Given the description of an element on the screen output the (x, y) to click on. 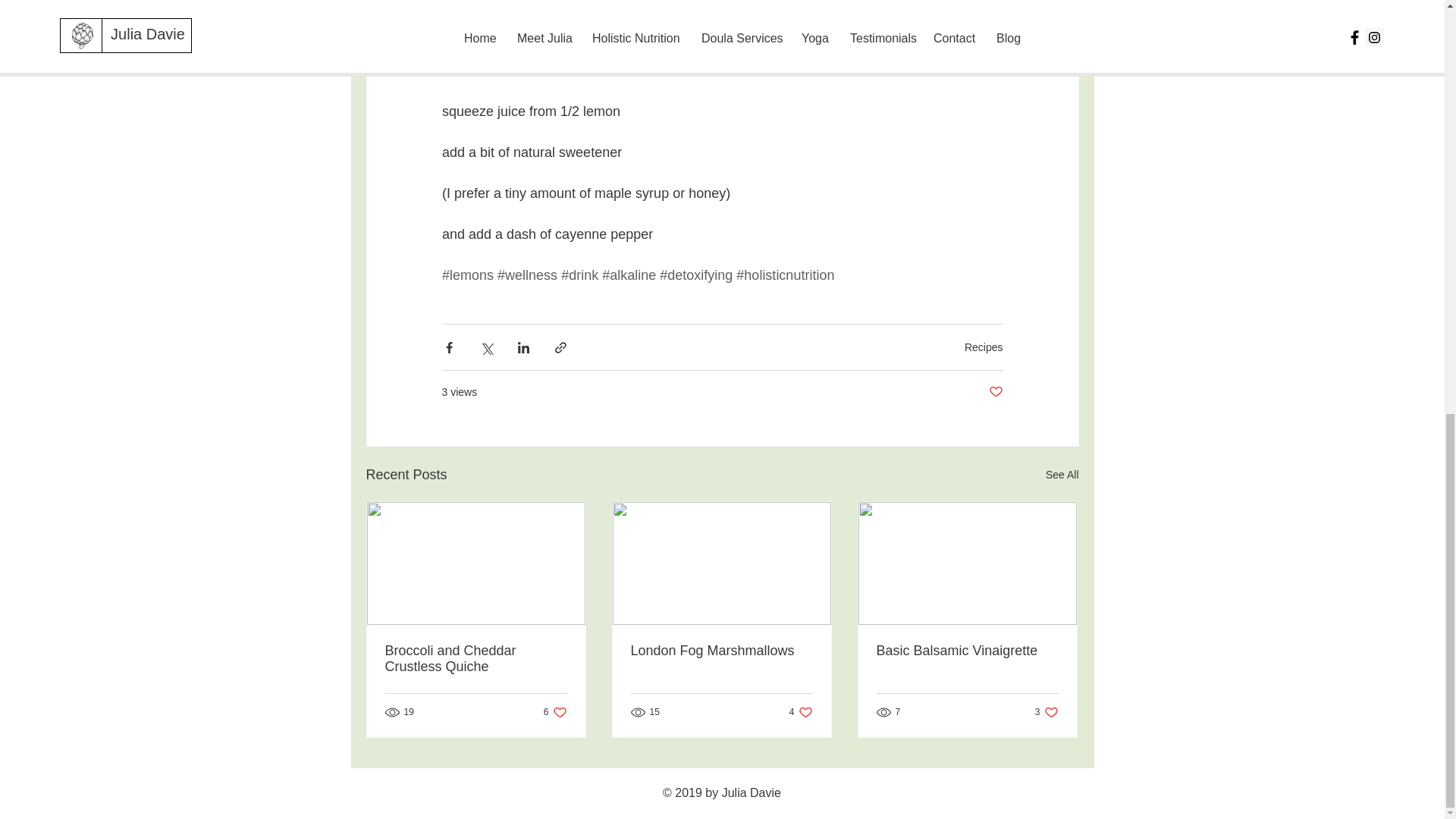
Basic Balsamic Vinaigrette (967, 650)
Post not marked as liked (995, 392)
See All (1061, 475)
Recipes (1046, 712)
Broccoli and Cheddar Crustless Quiche (983, 346)
London Fog Marshmallows (800, 712)
